Given the description of an element on the screen output the (x, y) to click on. 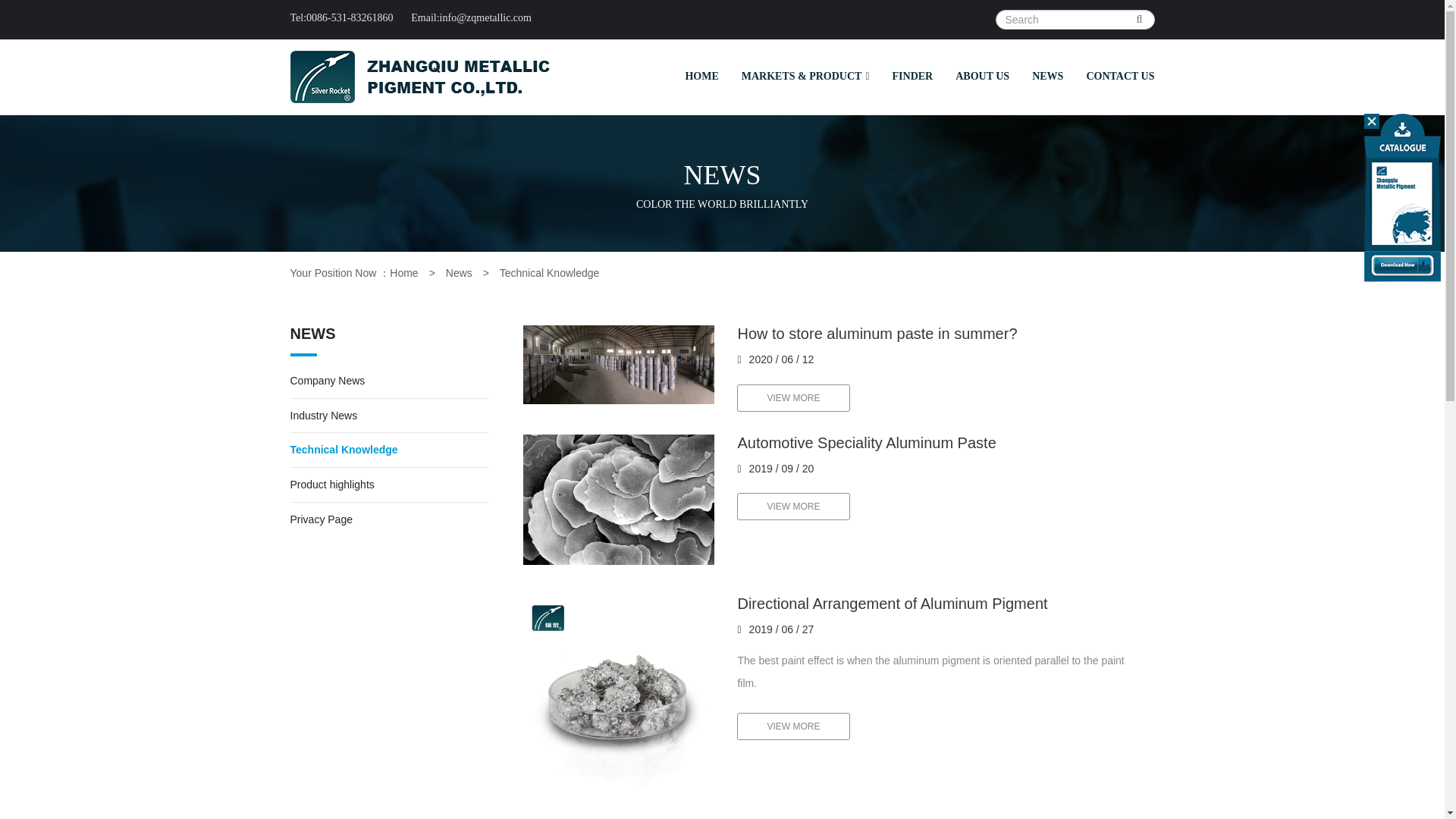
NEWS (1047, 76)
FINDER (912, 76)
Technical Knowledge (343, 449)
Product highlights (331, 484)
How to store aluminum paste in summer? (939, 345)
Tel:0086-531-83261860 (348, 18)
Zhangqiu Metallic Pigment Co.,LTD. (418, 76)
Directional Arrangement of Aluminum Pigment (618, 690)
CONTACT US (1120, 76)
Industry News (322, 415)
Company News (327, 380)
Automotive Speciality Aluminum Paste (618, 499)
Home (403, 272)
HOME (700, 76)
